Given the description of an element on the screen output the (x, y) to click on. 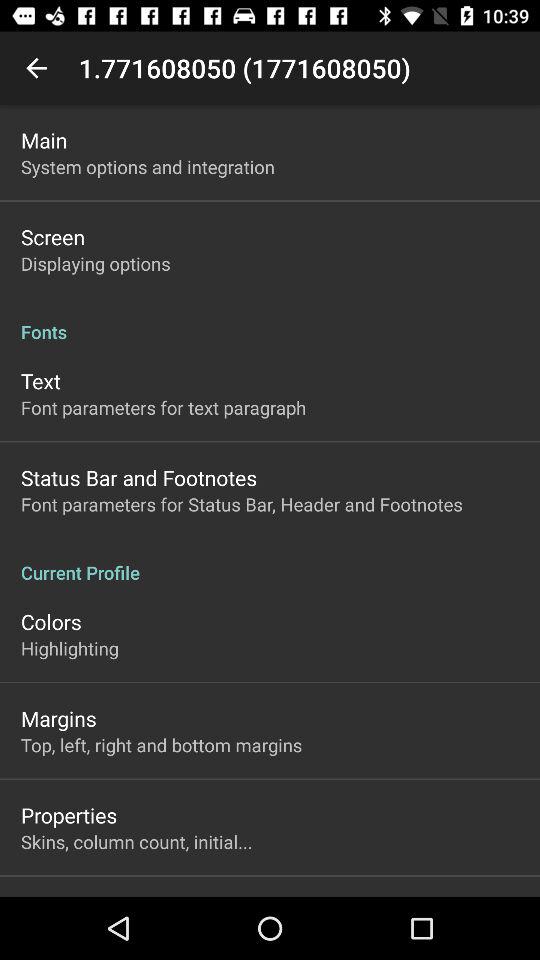
scroll to current profile app (270, 562)
